Given the description of an element on the screen output the (x, y) to click on. 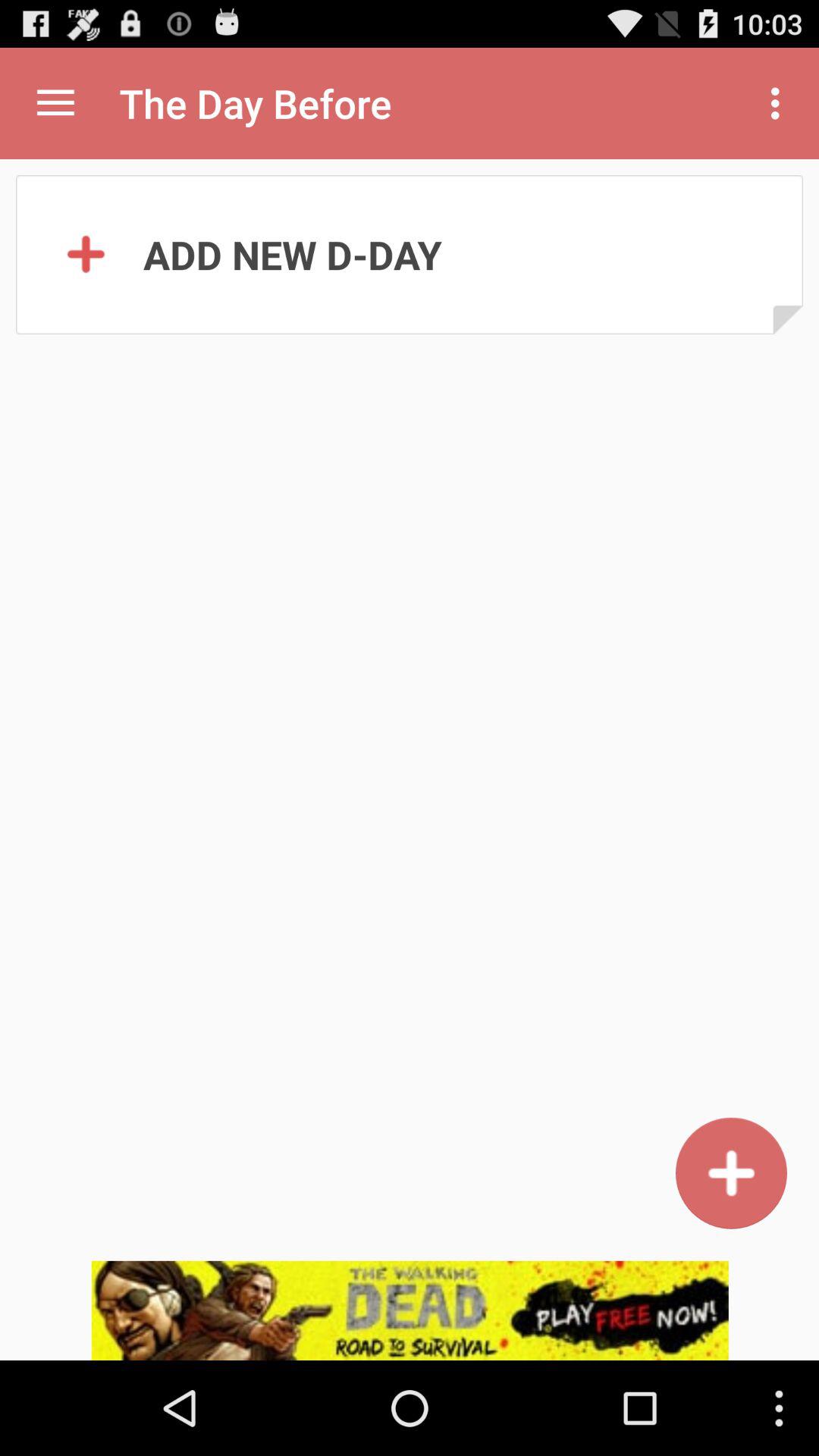
advertisement page (409, 1310)
